Given the description of an element on the screen output the (x, y) to click on. 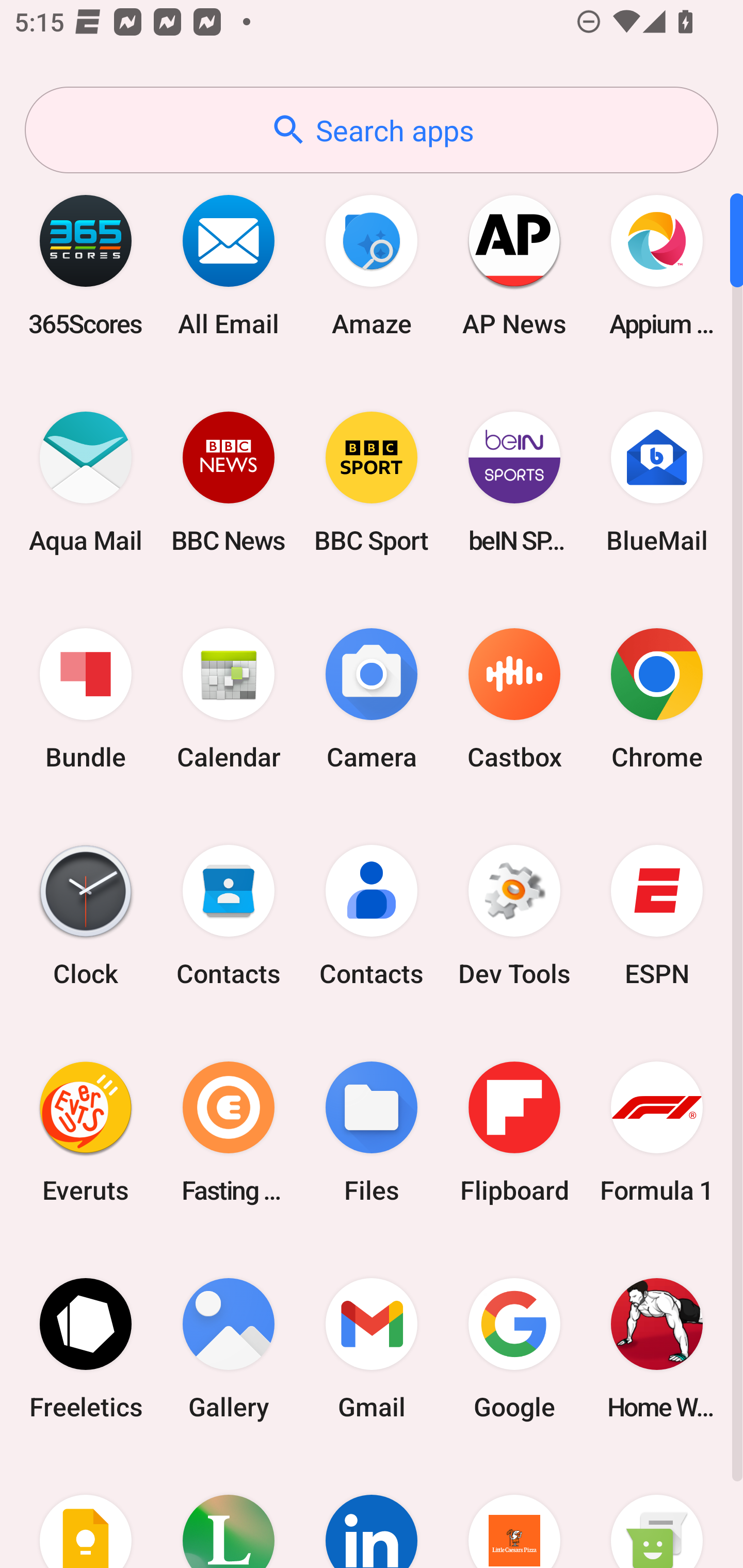
  Search apps (371, 130)
365Scores (85, 264)
All Email (228, 264)
Amaze (371, 264)
AP News (514, 264)
Appium Settings (656, 264)
Aqua Mail (85, 482)
BBC News (228, 482)
BBC Sport (371, 482)
beIN SPORTS (514, 482)
BlueMail (656, 482)
Bundle (85, 699)
Calendar (228, 699)
Camera (371, 699)
Castbox (514, 699)
Chrome (656, 699)
Clock (85, 915)
Contacts (228, 915)
Contacts (371, 915)
Dev Tools (514, 915)
ESPN (656, 915)
Everuts (85, 1131)
Fasting Coach (228, 1131)
Files (371, 1131)
Flipboard (514, 1131)
Formula 1 (656, 1131)
Freeletics (85, 1348)
Gallery (228, 1348)
Gmail (371, 1348)
Google (514, 1348)
Home Workout (656, 1348)
Keep Notes (85, 1512)
Lifesum (228, 1512)
LinkedIn (371, 1512)
Little Caesars Pizza (514, 1512)
Messaging (656, 1512)
